Given the description of an element on the screen output the (x, y) to click on. 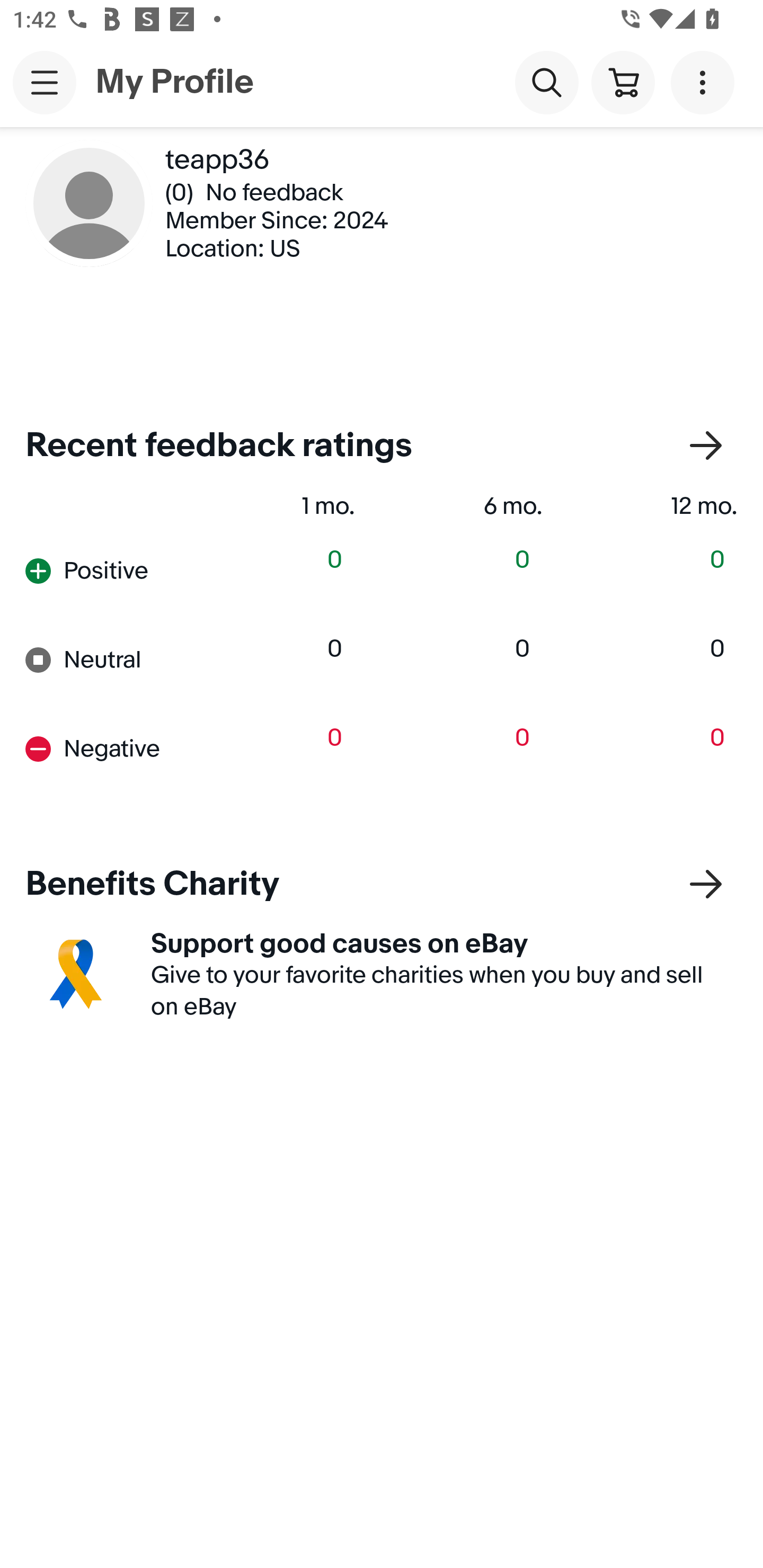
Main navigation, open (44, 82)
Search (546, 81)
Cart button shopping cart (623, 81)
More options (705, 81)
Recent feedback ratings (381, 446)
Positive Open all positive rating details. (112, 571)
Neutral Open all neutral rating details. (112, 659)
Negative Open all negative rating details. (112, 748)
Benefits Charity (381, 885)
